Given the description of an element on the screen output the (x, y) to click on. 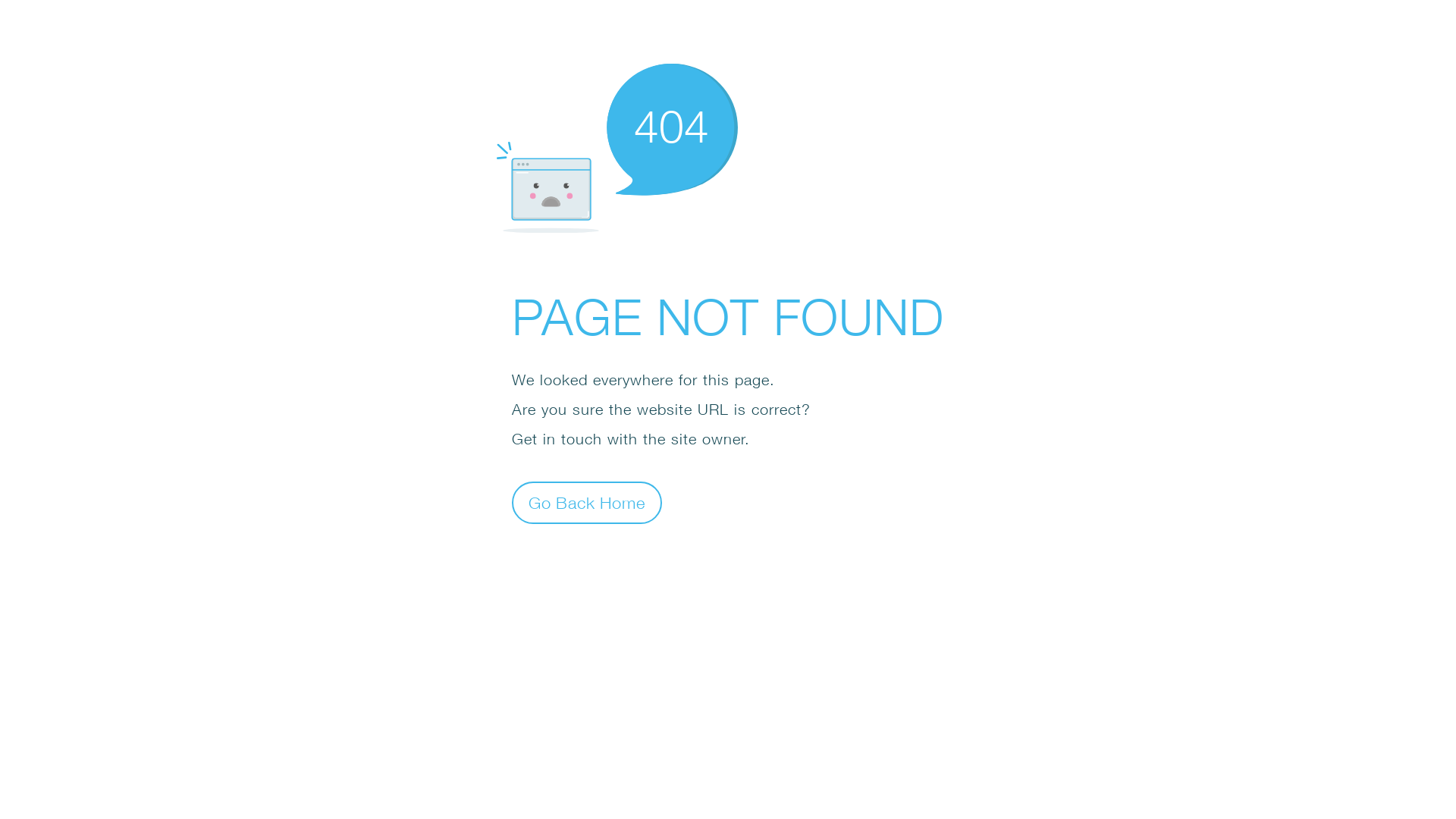
Go Back Home Element type: text (586, 502)
